Given the description of an element on the screen output the (x, y) to click on. 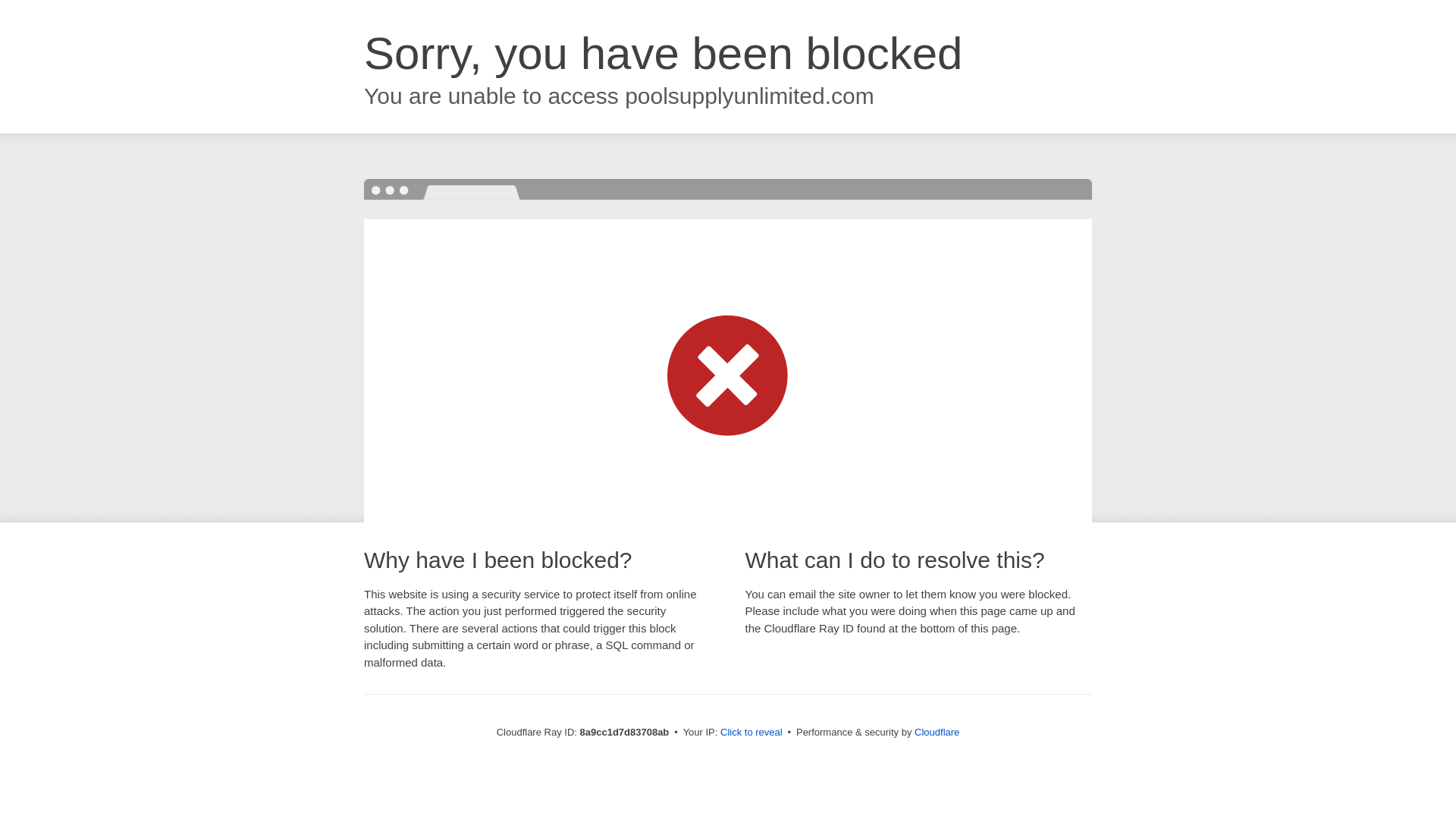
Click to reveal (751, 732)
Cloudflare (936, 731)
